Given the description of an element on the screen output the (x, y) to click on. 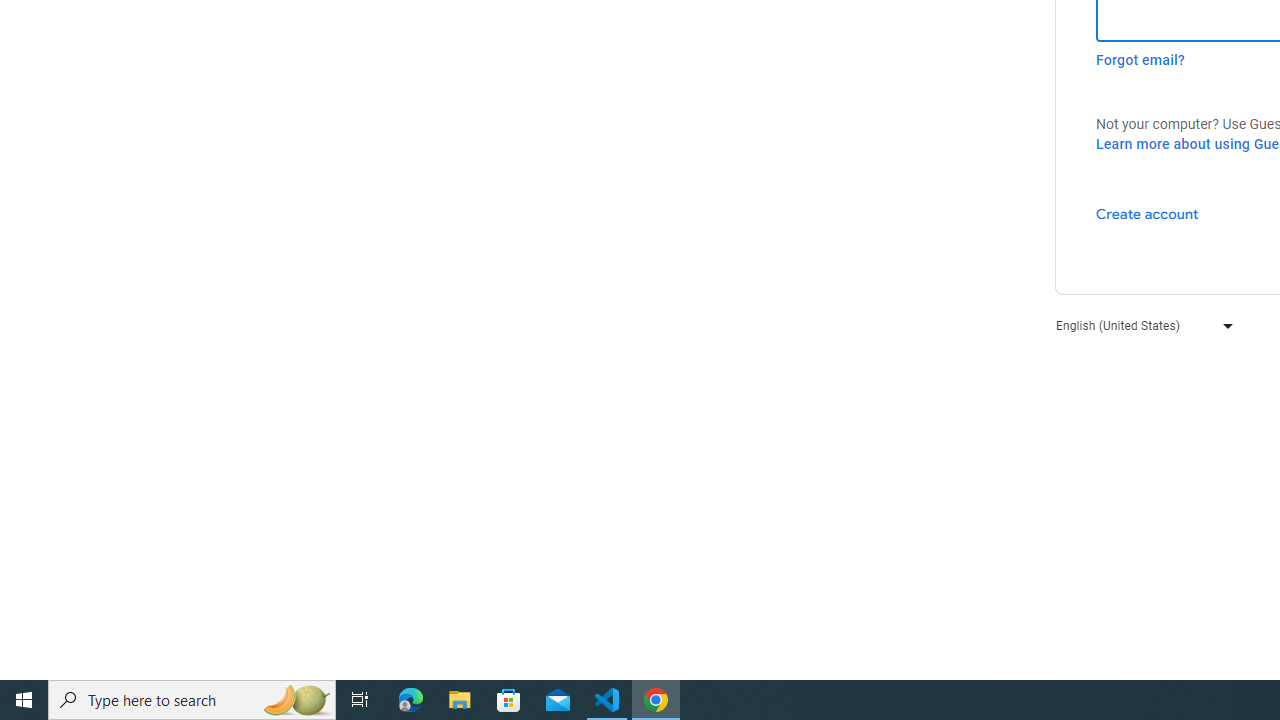
Create account (1146, 213)
English (United States) (1139, 324)
Forgot email? (1140, 59)
